Given the description of an element on the screen output the (x, y) to click on. 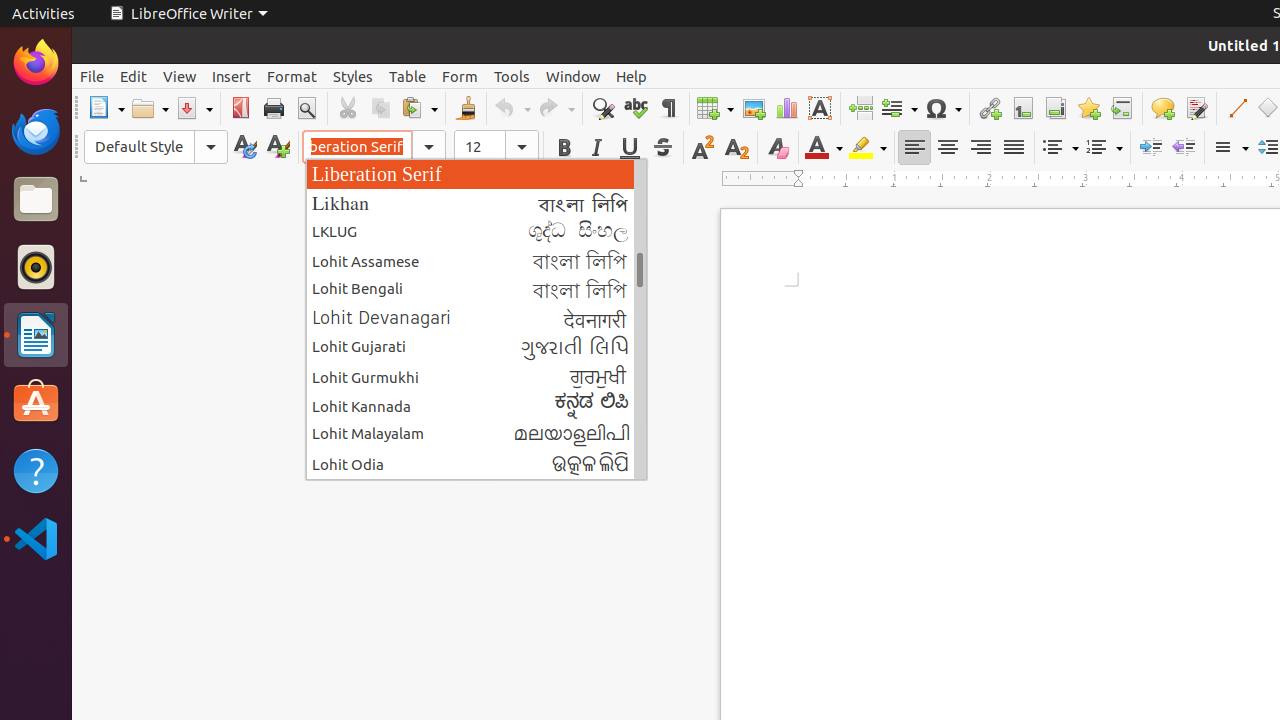
Lohit Odia Element type: list-item (476, 463)
Symbol Element type: push-button (943, 108)
Help Element type: push-button (36, 470)
Bullets Element type: push-button (1060, 147)
Edit Element type: menu (133, 76)
